Given the description of an element on the screen output the (x, y) to click on. 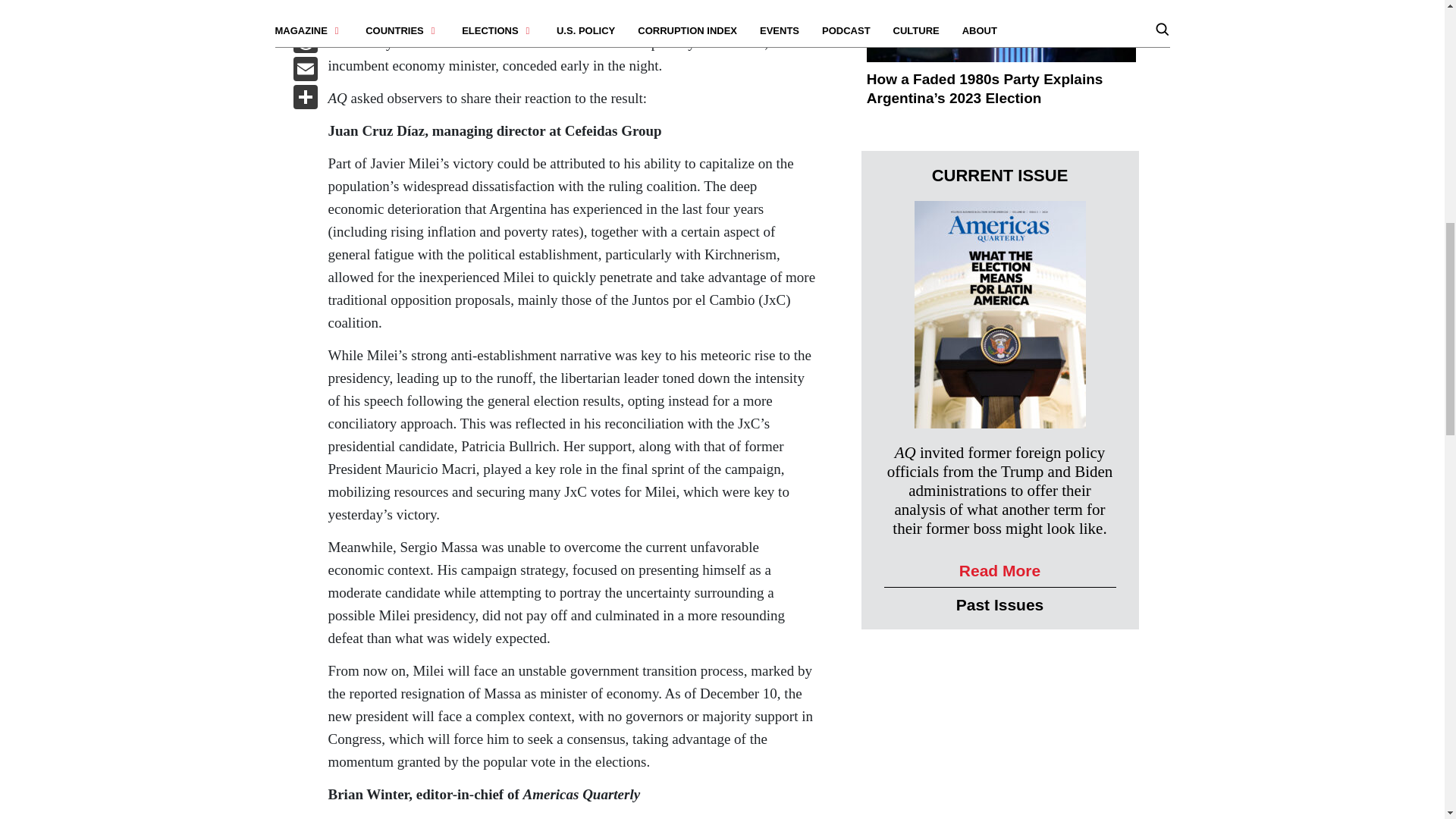
Email (304, 70)
Threads (304, 42)
LinkedIn (304, 14)
